Given the description of an element on the screen output the (x, y) to click on. 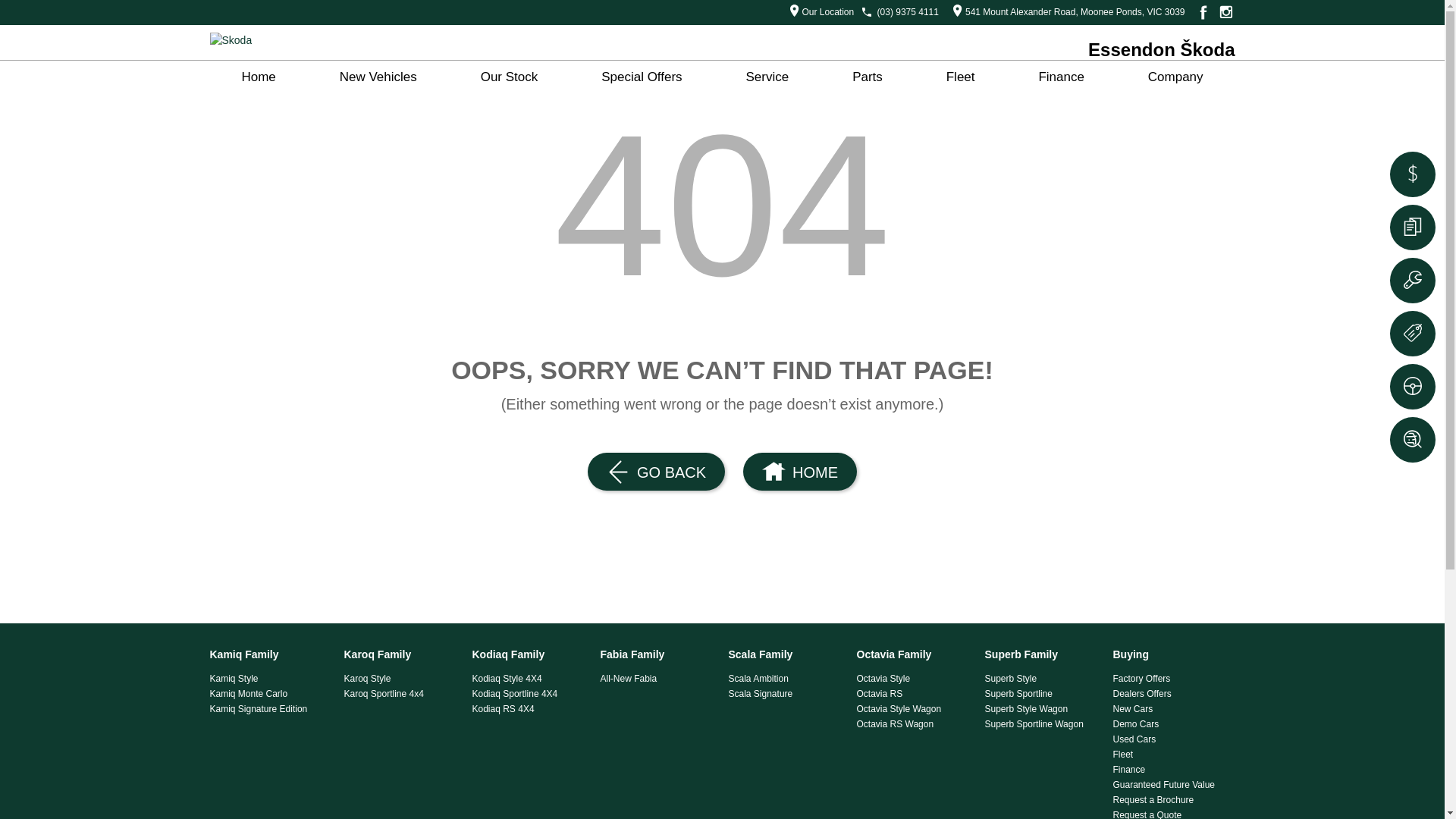
Kodiaq Style 4X4 Element type: text (529, 678)
Kodiaq RS 4X4 Element type: text (529, 708)
Kodiaq Sportline 4X4 Element type: text (529, 693)
Octavia RS Wagon Element type: text (914, 723)
Finance Element type: text (1060, 77)
Used Cars Element type: text (1171, 738)
Fleet Element type: text (1171, 754)
Kamiq Style Element type: text (267, 678)
GO BACK Element type: text (655, 471)
Instagram Element type: text (1225, 12)
Our Location Element type: text (817, 11)
Karoq Sportline 4x4 Element type: text (402, 693)
Scala Ambition Element type: text (786, 678)
Fleet Element type: text (960, 77)
Octavia Style Wagon Element type: text (914, 708)
Facebook Element type: text (1201, 12)
New Vehicles Element type: text (377, 77)
Superb Style Element type: text (1042, 678)
HOME Element type: text (799, 471)
Octavia RS Element type: text (914, 693)
Guaranteed Future Value Element type: text (1171, 784)
Parts Element type: text (867, 77)
Dealers Offers Element type: text (1171, 693)
Superb Style Wagon Element type: text (1042, 708)
Company Element type: text (1175, 77)
541 Mount Alexander Road, Moonee Ponds, VIC 3039 Element type: text (1064, 11)
Superb Sportline Element type: text (1042, 693)
Kamiq Signature Edition Element type: text (267, 708)
Octavia Style Element type: text (914, 678)
All-New Fabia Element type: text (658, 678)
Scala Signature Element type: text (786, 693)
Special Offers Element type: text (641, 77)
Karoq Style Element type: text (402, 678)
New Cars Element type: text (1171, 708)
Home Element type: text (258, 77)
Our Stock Element type: text (509, 77)
Request a Brochure Element type: text (1171, 799)
Factory Offers Element type: text (1171, 678)
Kamiq Monte Carlo Element type: text (267, 693)
Finance Element type: text (1171, 769)
Superb Sportline Wagon Element type: text (1042, 723)
Demo Cars Element type: text (1171, 723)
Service Element type: text (767, 77)
(03) 9375 4111 Element type: text (907, 11)
